Given the description of an element on the screen output the (x, y) to click on. 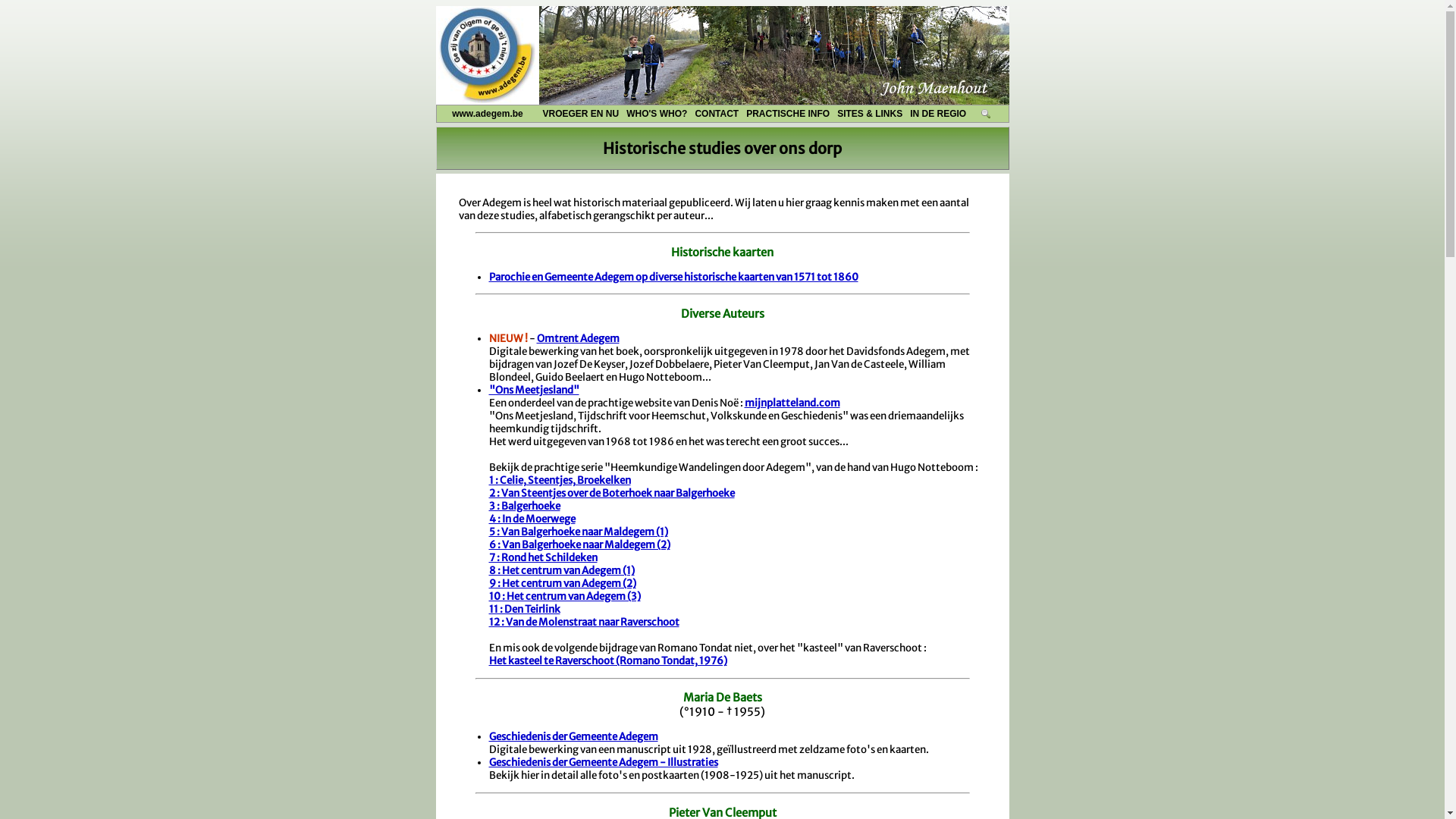
www.adegem.be Element type: text (487, 113)
Geschiedenis der Gemeente Adegem Element type: text (572, 736)
9 : Het centrum van Adegem (2) Element type: text (561, 583)
SITES & LINKS Element type: text (869, 113)
CONTACT Element type: text (716, 113)
mijnplatteland.com Element type: text (792, 402)
3 : Balgerhoeke Element type: text (523, 505)
PRACTISCHE INFO Element type: text (787, 113)
6 : Van Balgerhoeke naar Maldegem (2) Element type: text (578, 544)
10 : Het centrum van Adegem (3) Element type: text (564, 595)
Zoek op onze site Element type: hover (985, 113)
"Ons Meetjesland" Element type: text (533, 389)
8 : Het centrum van Adegem (1) Element type: text (560, 570)
5 : Van Balgerhoeke naar Maldegem (1) Element type: text (577, 531)
12 : Van de Molenstraat naar Raverschoot Element type: text (583, 621)
1 : Celie, Steentjes, Broekelken Element type: text (559, 479)
Geschiedenis der Gemeente Adegem - Illustraties Element type: text (602, 762)
11 : Den Teirlink Element type: text (523, 608)
4 : In de Moerwege Element type: text (531, 518)
Het kasteel te Raverschoot (Romano Tondat, 1976) Element type: text (607, 660)
VROEGER EN NU Element type: text (580, 113)
Omtrent Adegem Element type: text (577, 338)
7 : Rond het Schildeken Element type: text (542, 557)
2 : Van Steentjes over de Boterhoek naar Balgerhoeke Element type: text (611, 492)
IN DE REGIO Element type: text (937, 113)
WHO'S WHO? Element type: text (656, 113)
